Given the description of an element on the screen output the (x, y) to click on. 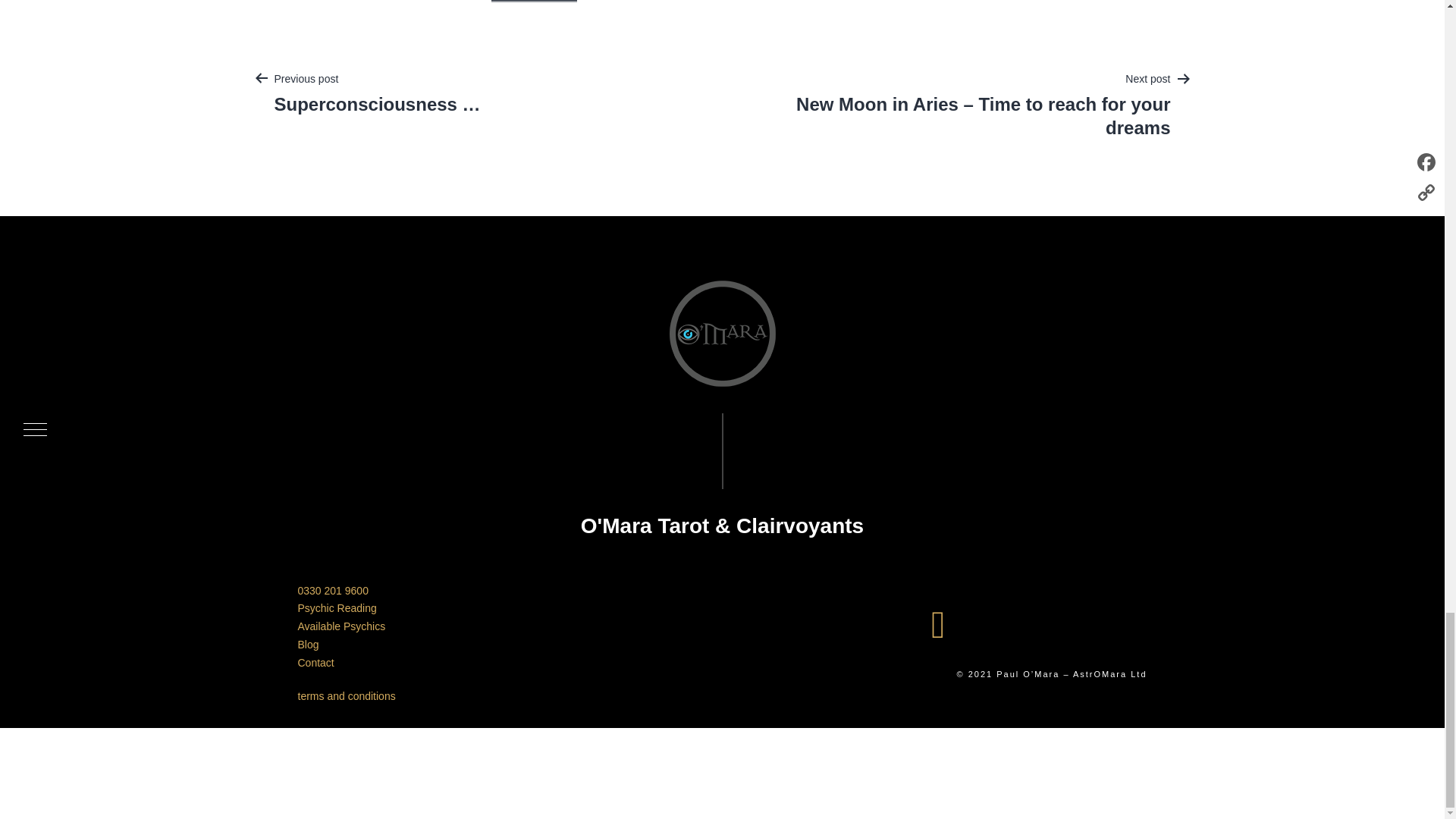
Post Comment (535, 1)
